Given the description of an element on the screen output the (x, y) to click on. 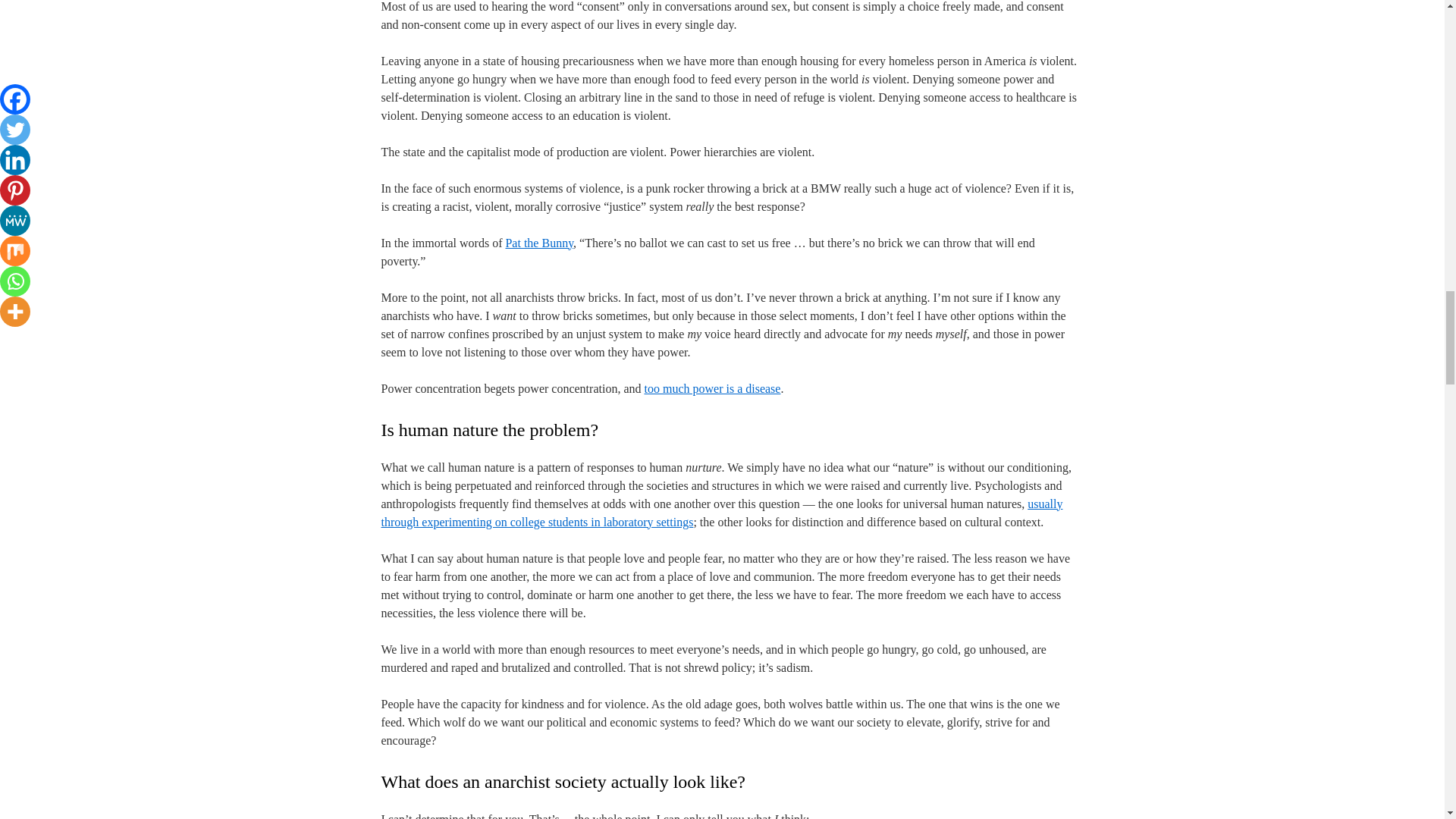
too much power is a disease (711, 388)
Pat the Bunny (539, 242)
